Given the description of an element on the screen output the (x, y) to click on. 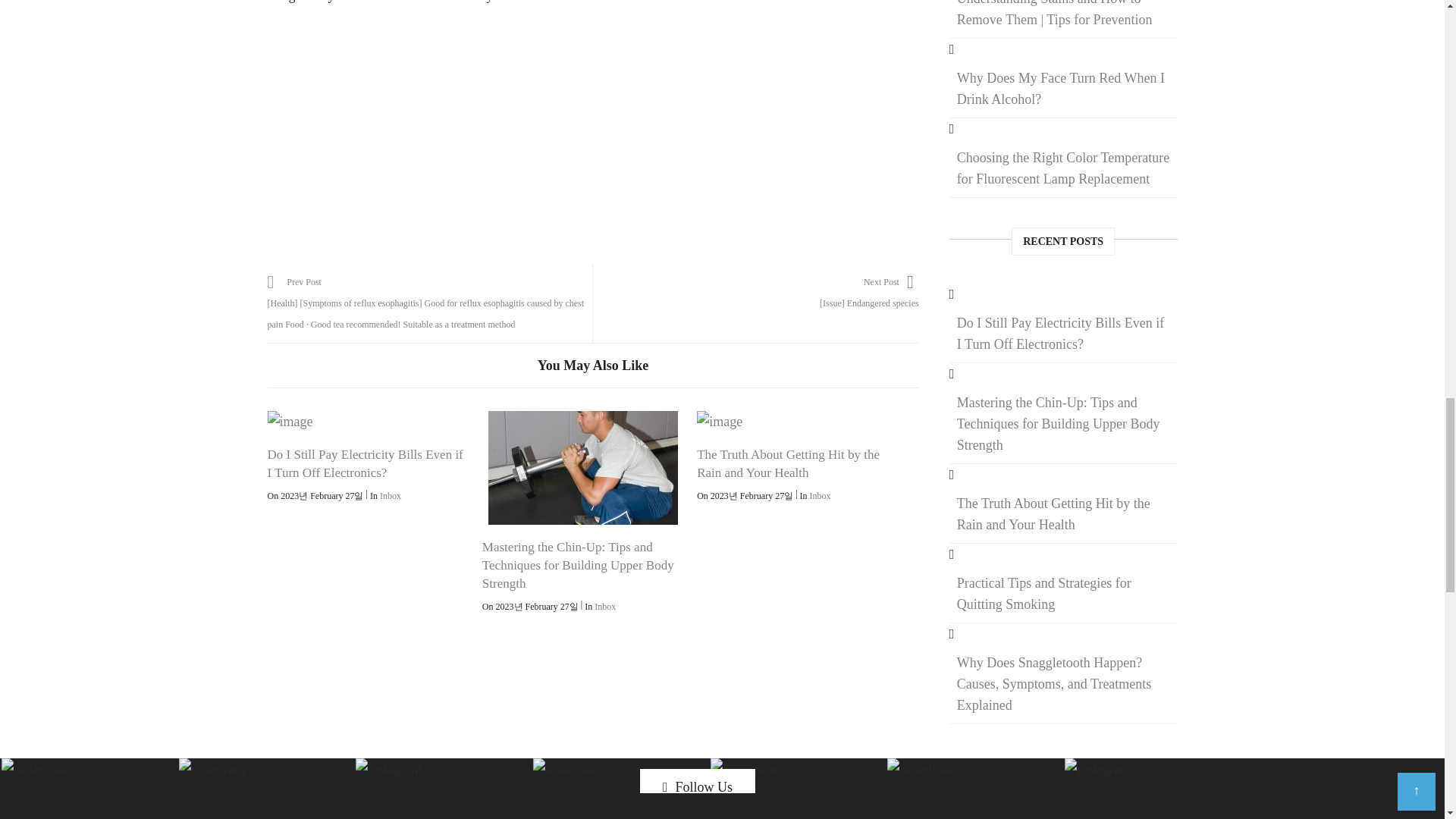
The Truth About Getting Hit by the Rain and Your Health (797, 421)
Inbox (820, 495)
Inbox (604, 606)
The Truth About Getting Hit by the Rain and Your Health (788, 463)
Inbox (390, 495)
